Given the description of an element on the screen output the (x, y) to click on. 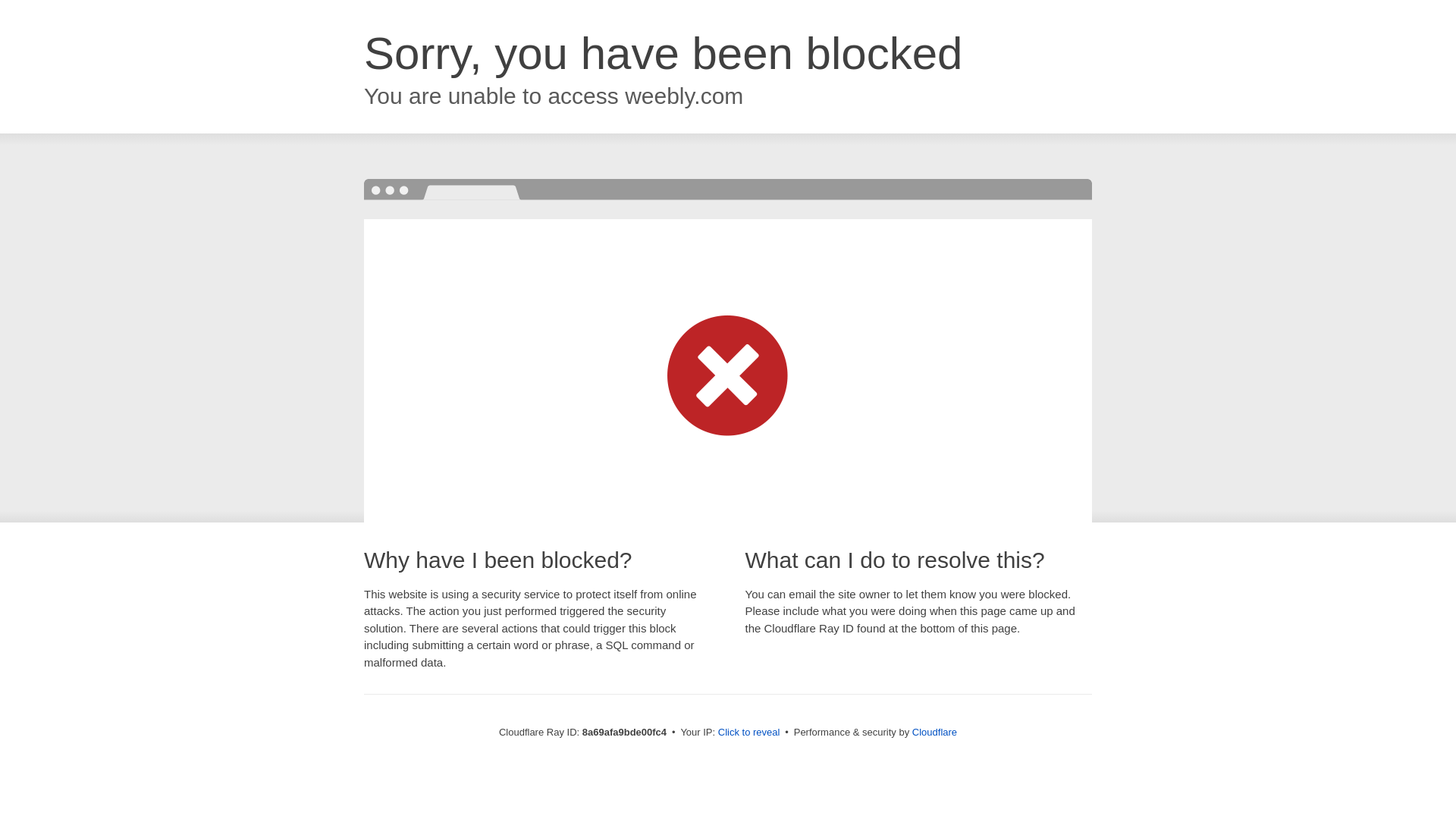
Cloudflare (934, 731)
Click to reveal (748, 732)
